Given the description of an element on the screen output the (x, y) to click on. 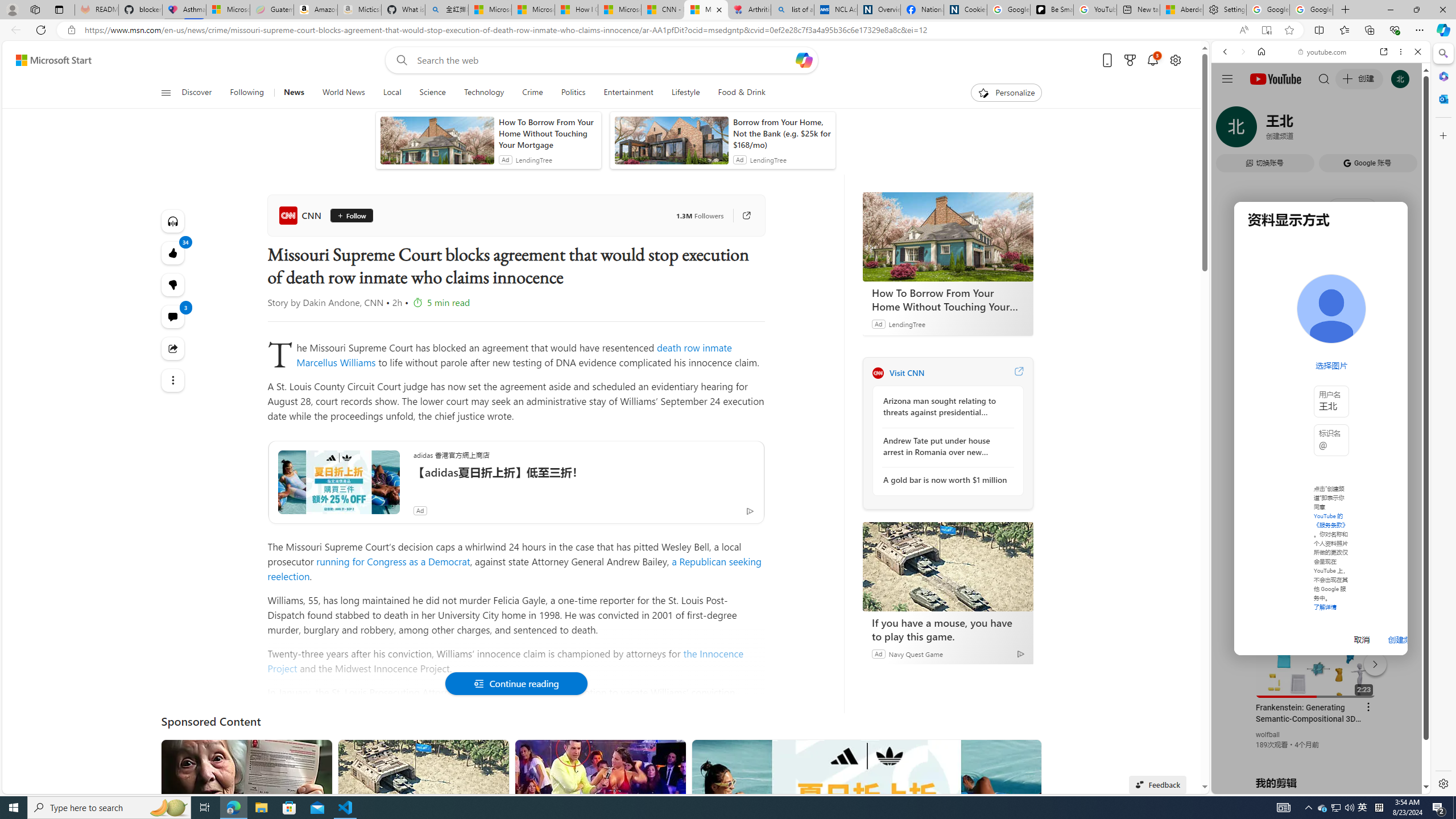
Class: at-item (172, 380)
34 Like (172, 252)
